Given the description of an element on the screen output the (x, y) to click on. 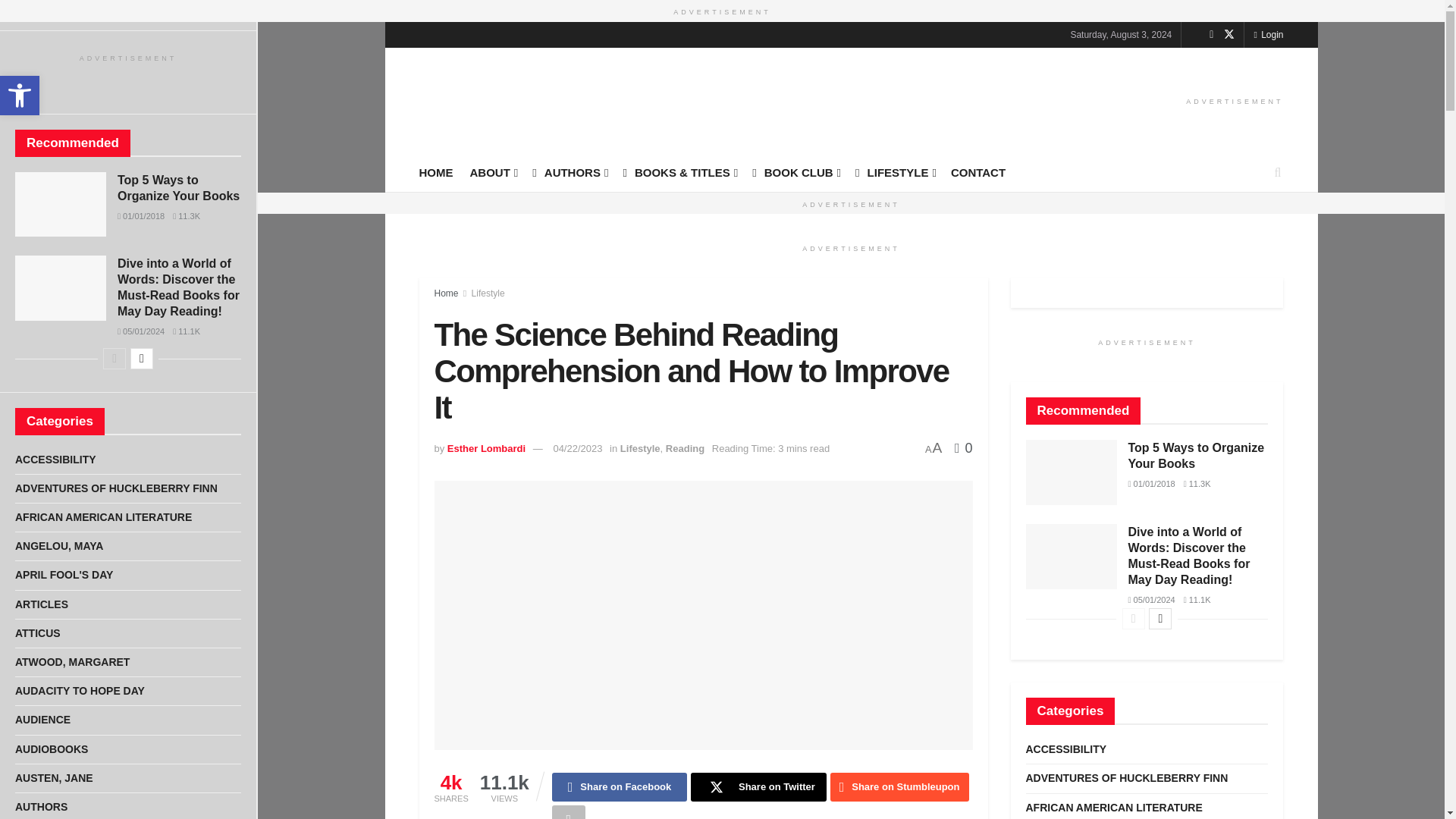
11.3K (186, 215)
11.1K (186, 330)
AUSTEN, JANE (53, 778)
Top 5 Ways to Organize Your Books (178, 186)
ADVENTURES OF HUCKLEBERRY FINN (115, 488)
APRIL FOOL'S DAY (63, 574)
ARTICLES (41, 604)
ANGELOU, MAYA (58, 546)
Next (141, 358)
ATWOOD, MARGARET (71, 661)
